Given the description of an element on the screen output the (x, y) to click on. 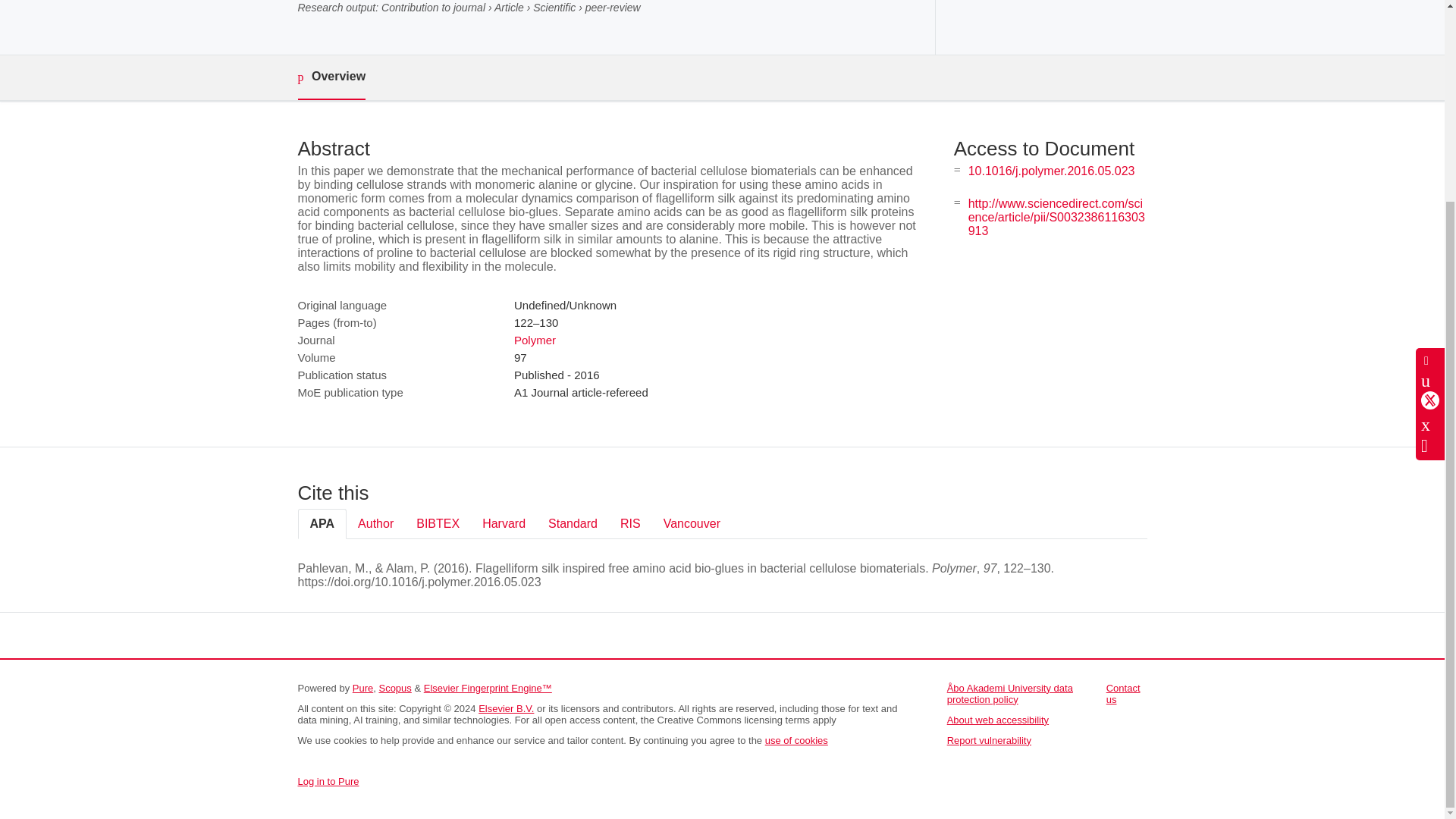
Polymer (534, 339)
Log in to Pure (327, 781)
use of cookies (796, 740)
Overview (331, 77)
Elsevier B.V. (506, 708)
Pure (362, 687)
About web accessibility (997, 719)
Scopus (394, 687)
